Given the description of an element on the screen output the (x, y) to click on. 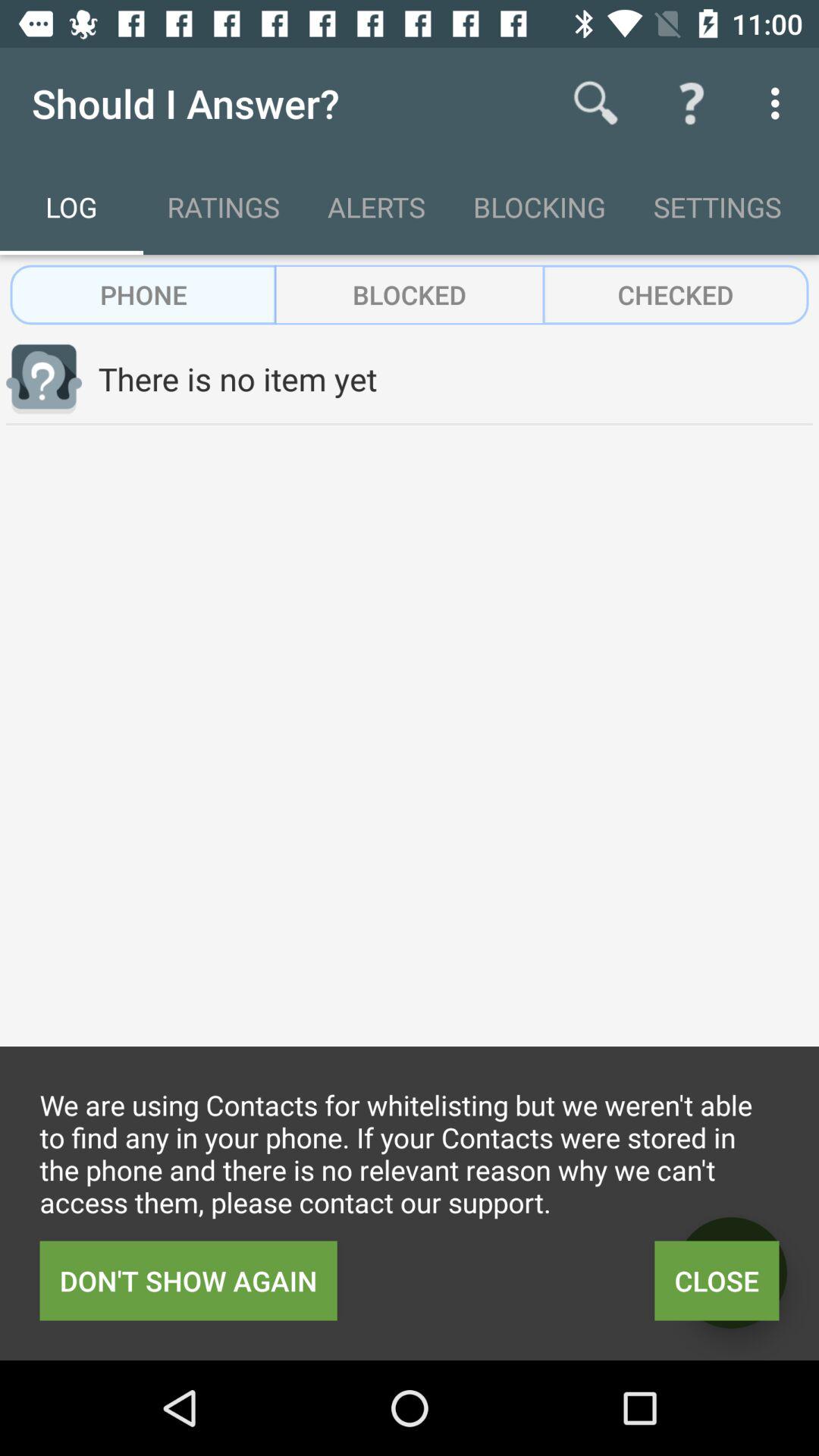
tap item next to don t show item (716, 1280)
